Given the description of an element on the screen output the (x, y) to click on. 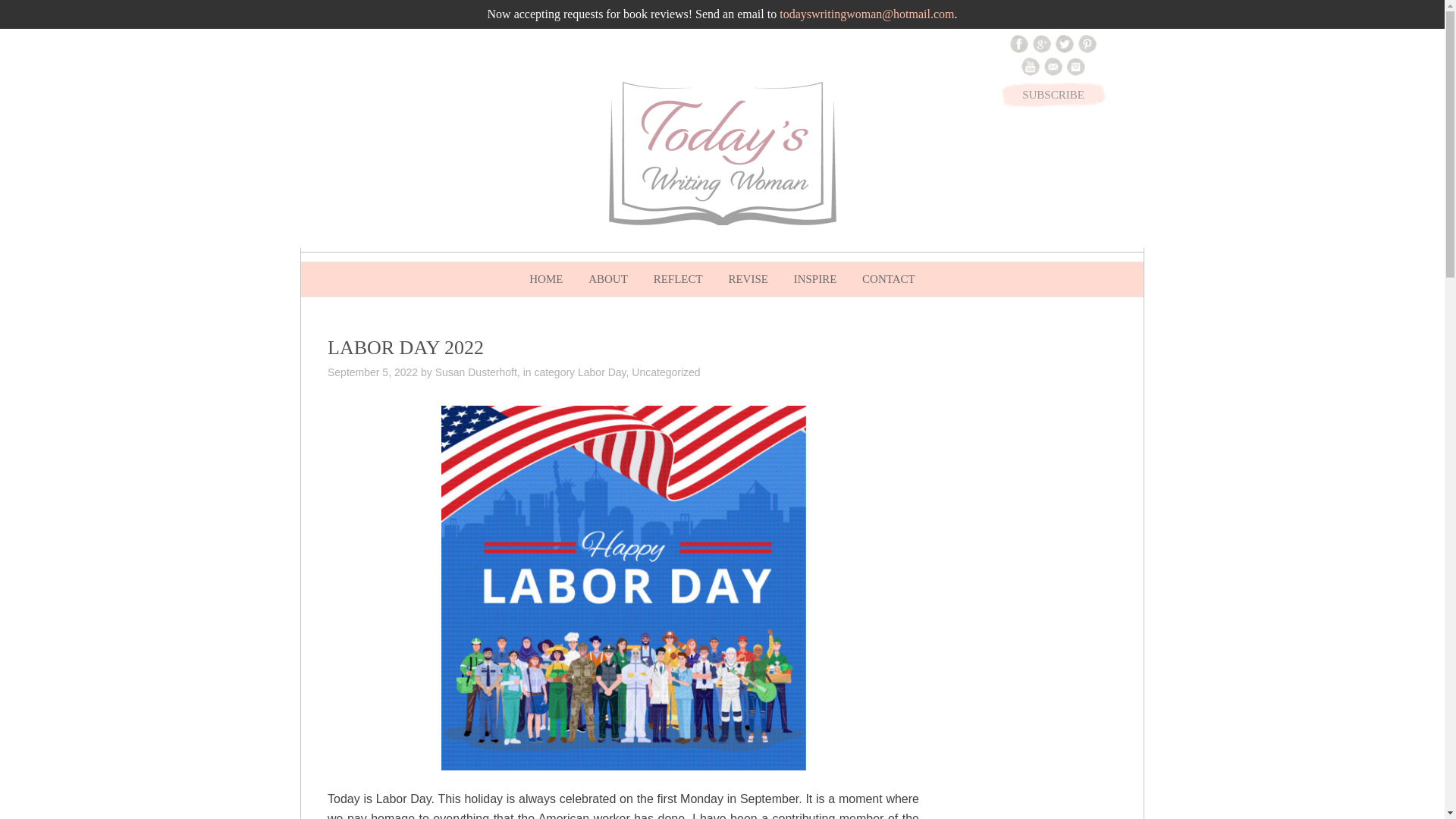
September 5, 2022 (372, 372)
REFLECT (678, 279)
SUBSCRIBE (1052, 94)
REVISE (747, 279)
CONTACT (888, 279)
Uncategorized (665, 372)
Labor Day (602, 372)
Susan Dusterhoft (475, 372)
HOME (545, 279)
INSPIRE (815, 279)
SKIP TO CONTENT (337, 272)
ABOUT (607, 279)
